Given the description of an element on the screen output the (x, y) to click on. 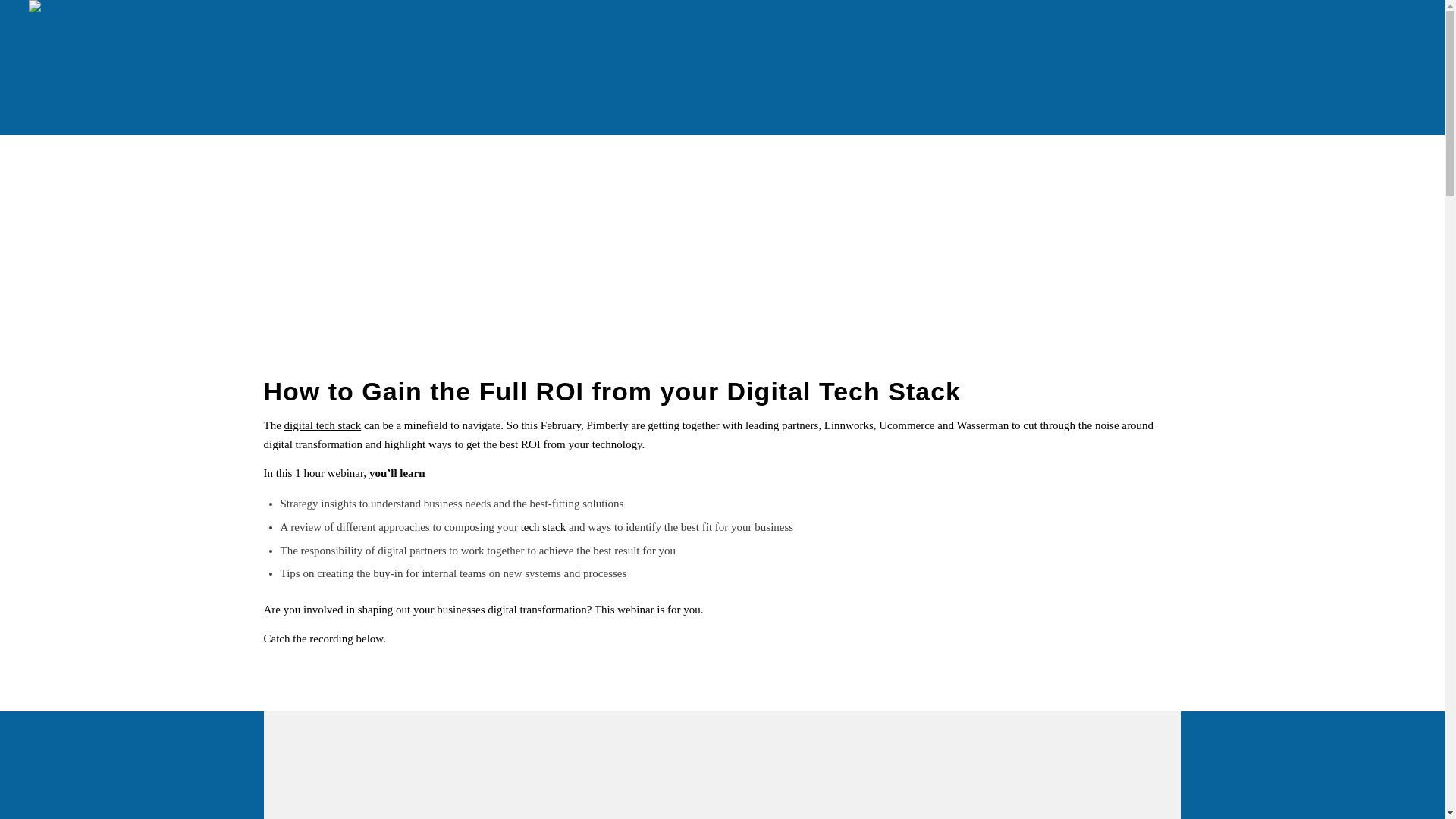
how-to-generate-ROI-of-your-tech-stack-4 (721, 229)
